Given the description of an element on the screen output the (x, y) to click on. 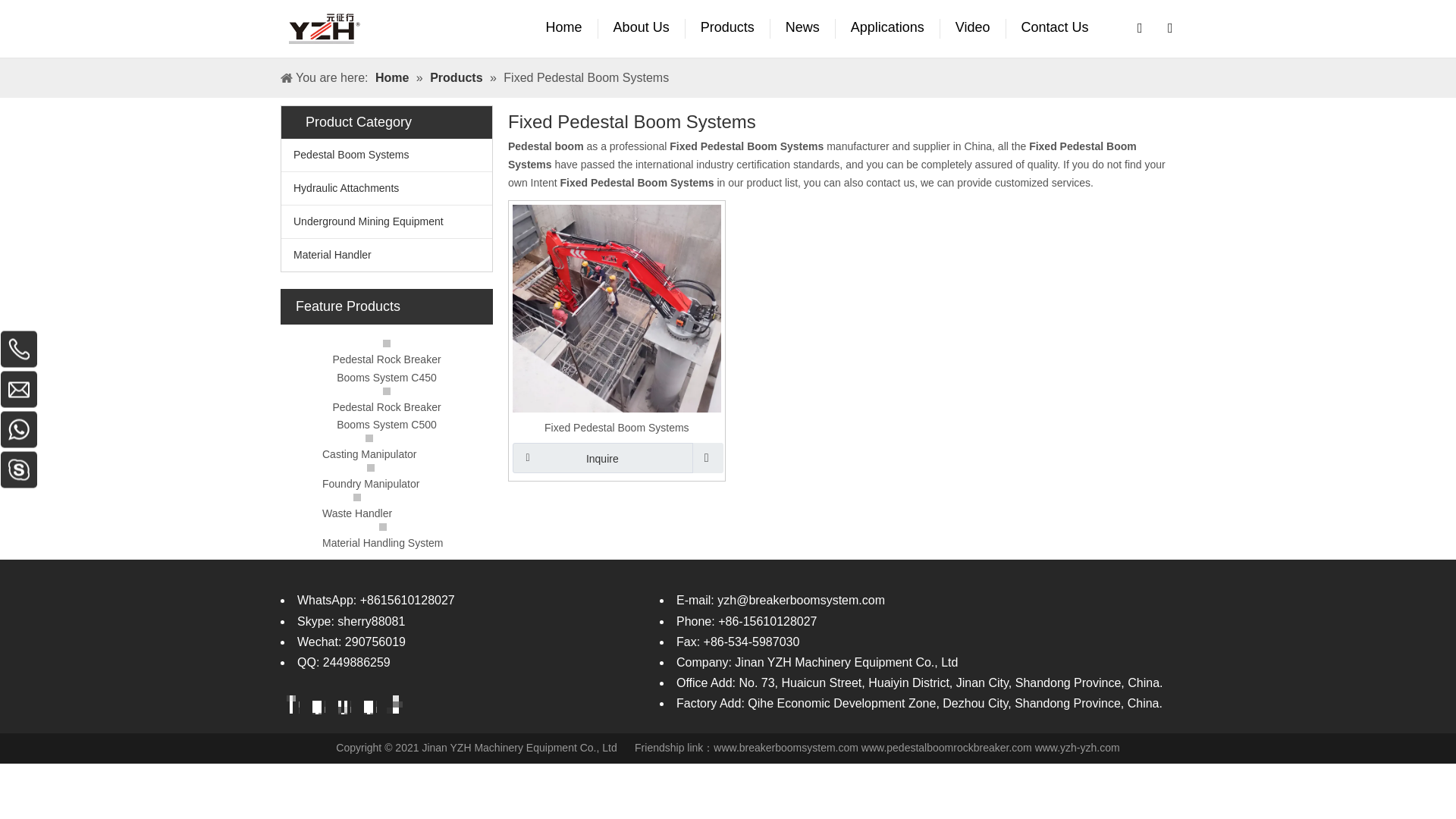
Pedestal Boom Systems (386, 154)
Home (564, 28)
News (802, 28)
Products (727, 28)
Hydraulic Attachments (386, 187)
Applications (887, 28)
About Us (641, 28)
